Given the description of an element on the screen output the (x, y) to click on. 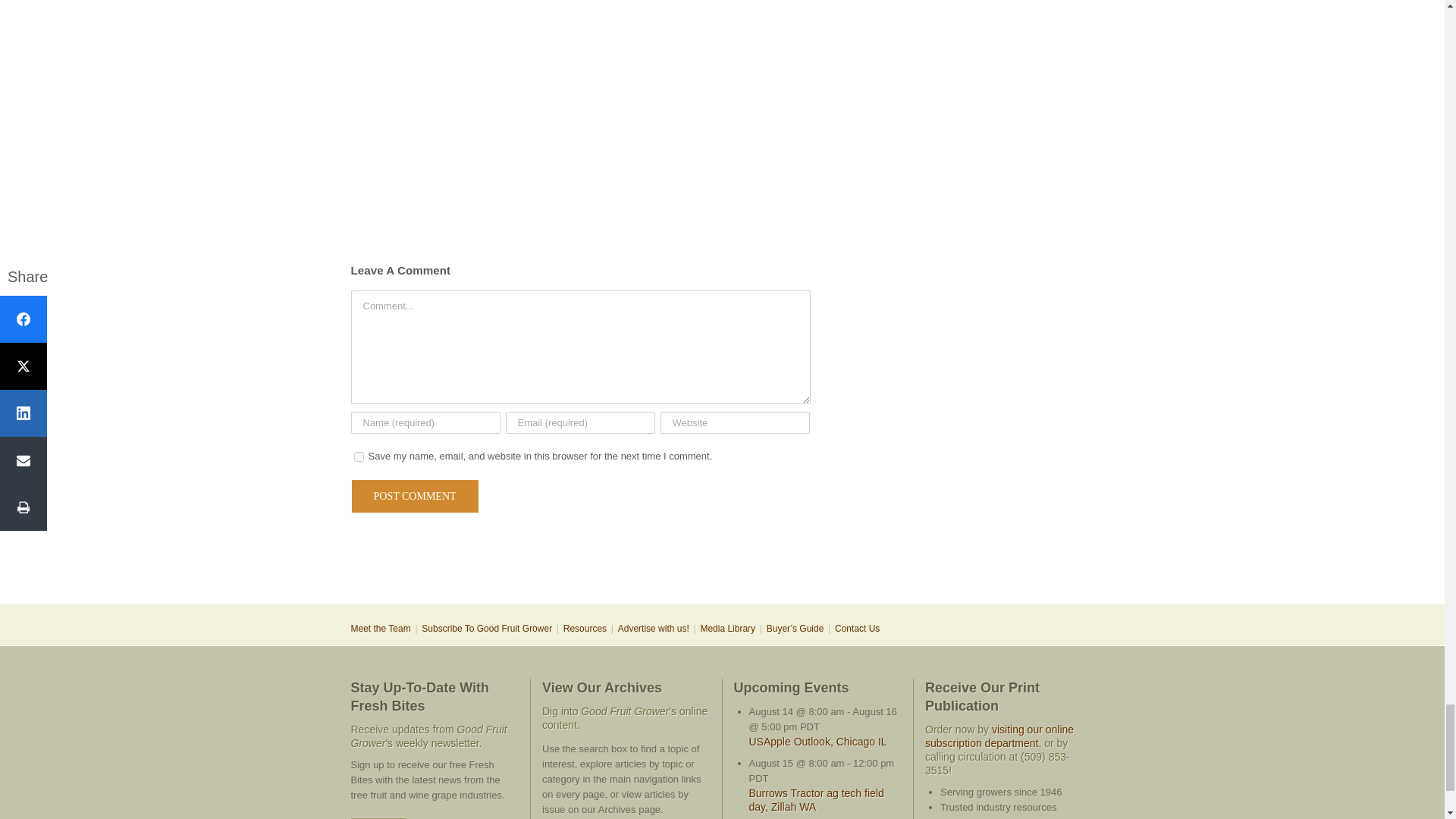
Post Comment (414, 496)
yes (357, 456)
3rd party ad content (721, 553)
